Given the description of an element on the screen output the (x, y) to click on. 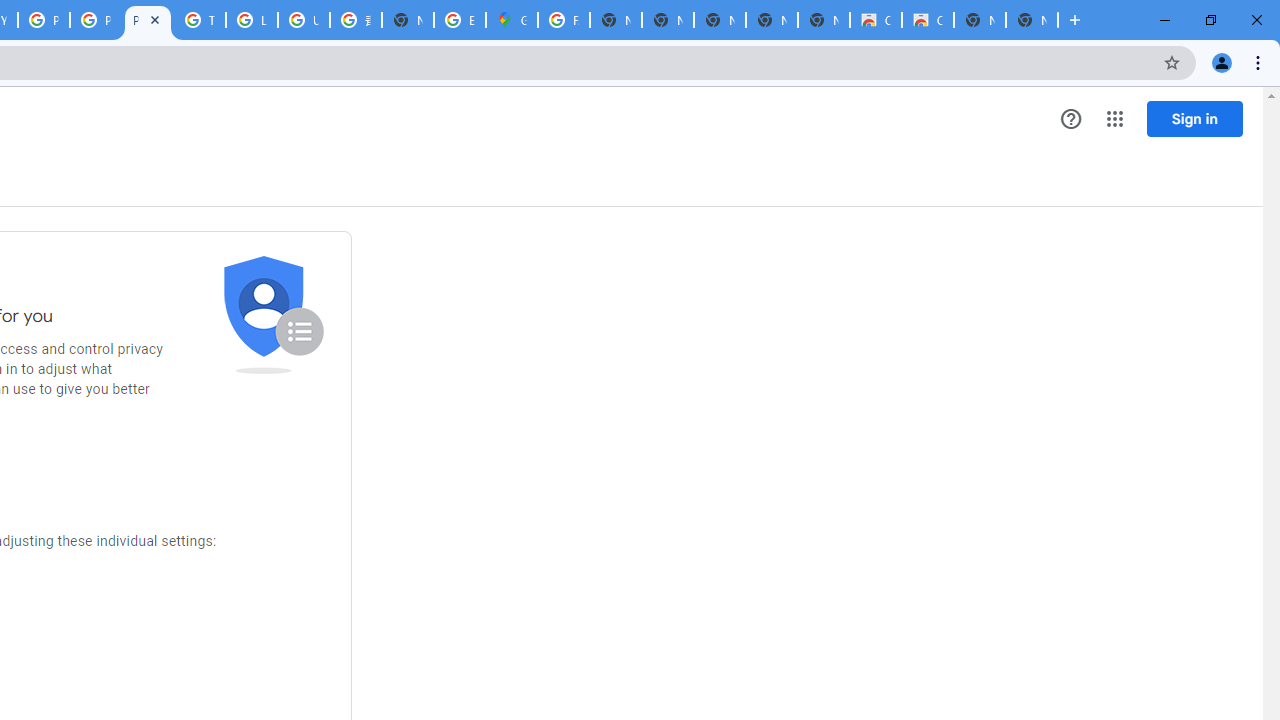
Privacy Checkup (147, 20)
Tips & tricks for Chrome - Google Chrome Help (200, 20)
Explore new street-level details - Google Maps Help (459, 20)
New Tab (407, 20)
Google Maps (511, 20)
